Given the description of an element on the screen output the (x, y) to click on. 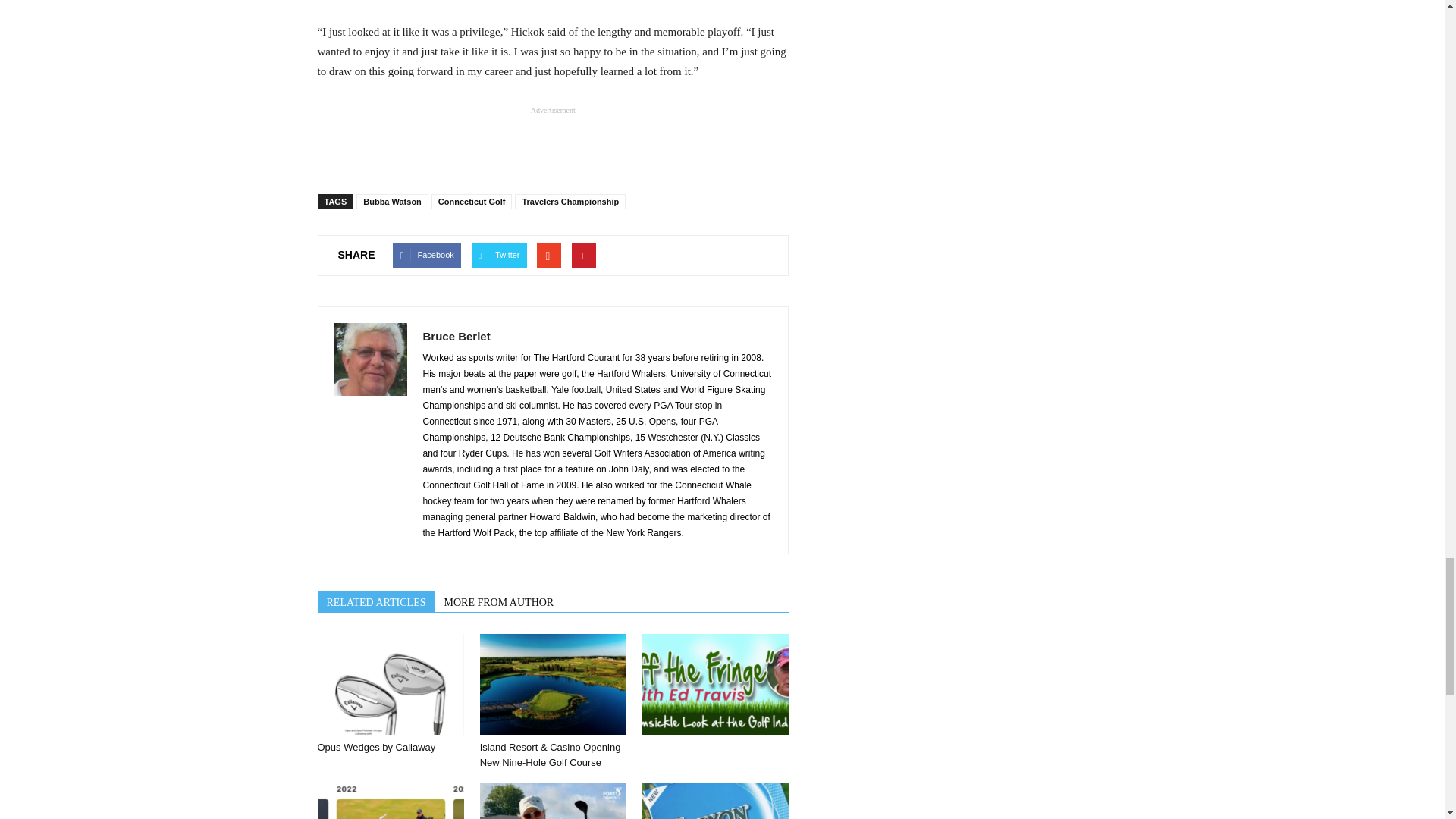
Opus Wedges by Callaway (390, 683)
Opus Wedges by Callaway (376, 747)
